Given the description of an element on the screen output the (x, y) to click on. 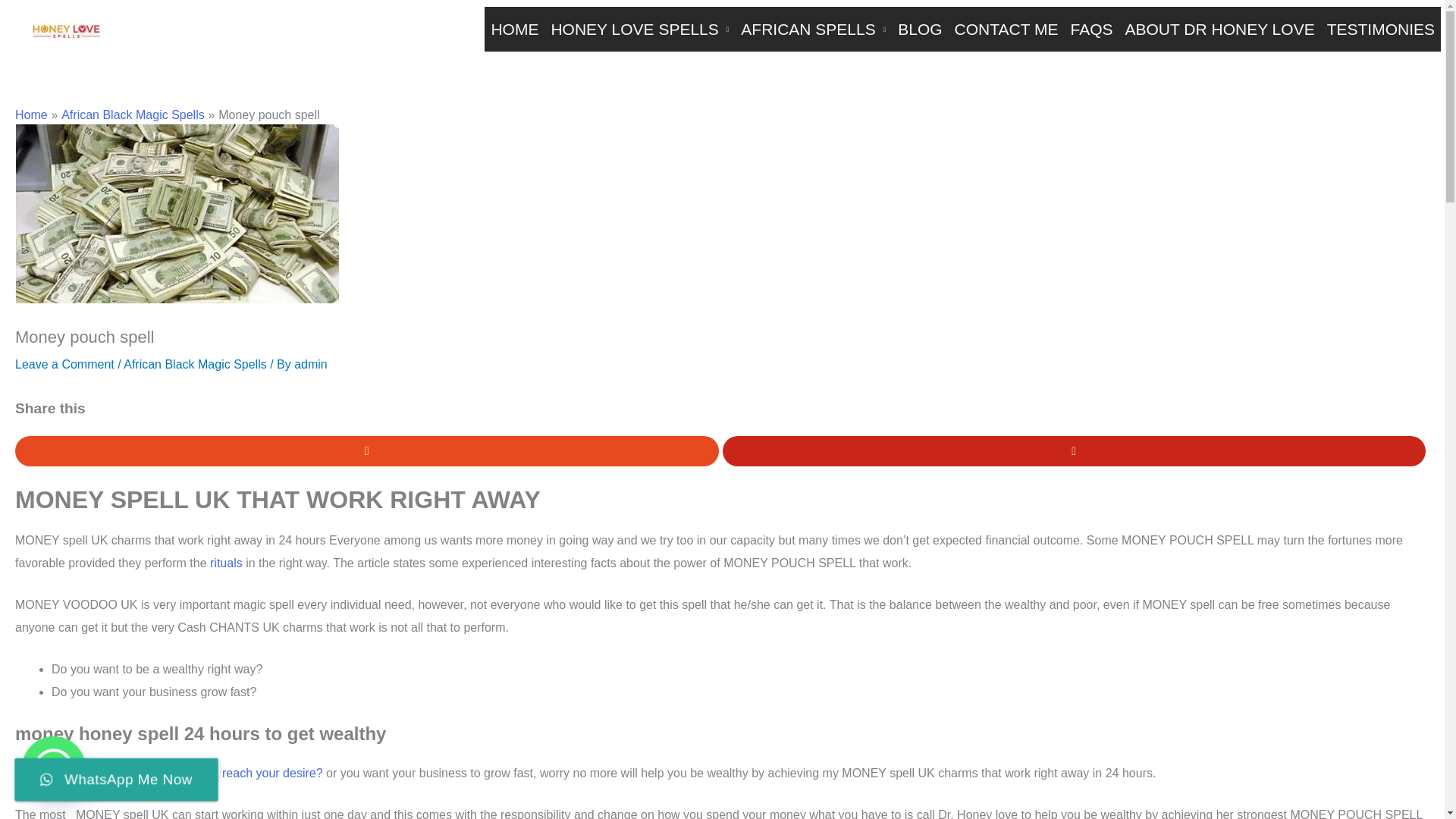
HONEY LOVE SPELLS (639, 28)
View all posts by admin (310, 364)
FAQS (1091, 28)
CONTACT ME (1006, 28)
AFRICAN SPELLS (813, 28)
BLOG (919, 28)
HOME (514, 28)
TESTIMONIES (1380, 28)
ABOUT DR HONEY LOVE (1219, 28)
